Given the description of an element on the screen output the (x, y) to click on. 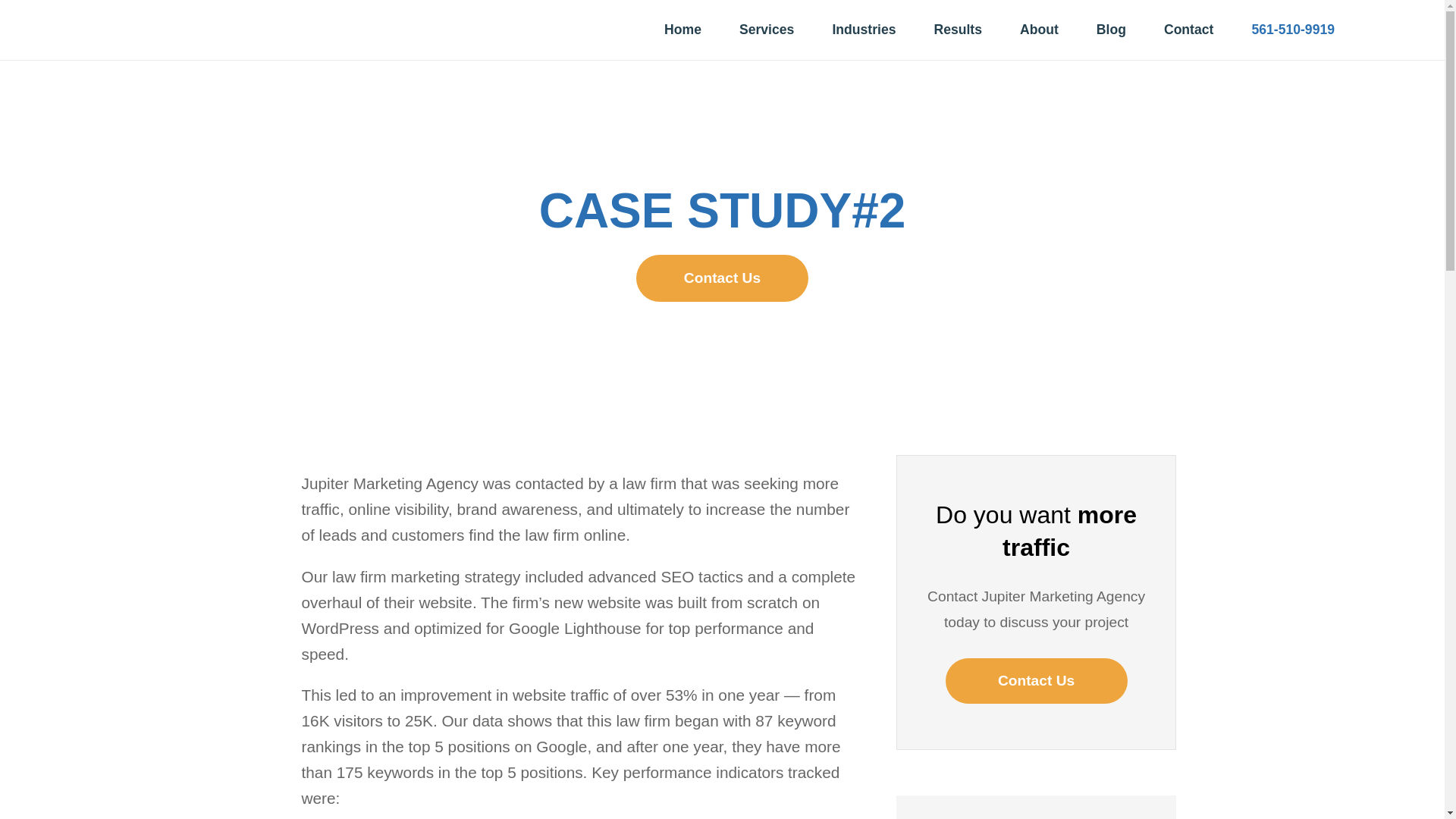
Home (682, 29)
Services (766, 29)
Results (957, 29)
561-510-9919 (1292, 29)
About (1039, 29)
Contact (1188, 29)
Contact Us (1035, 680)
Contact Us (722, 278)
Industries (863, 29)
Blog (1111, 29)
